Given the description of an element on the screen output the (x, y) to click on. 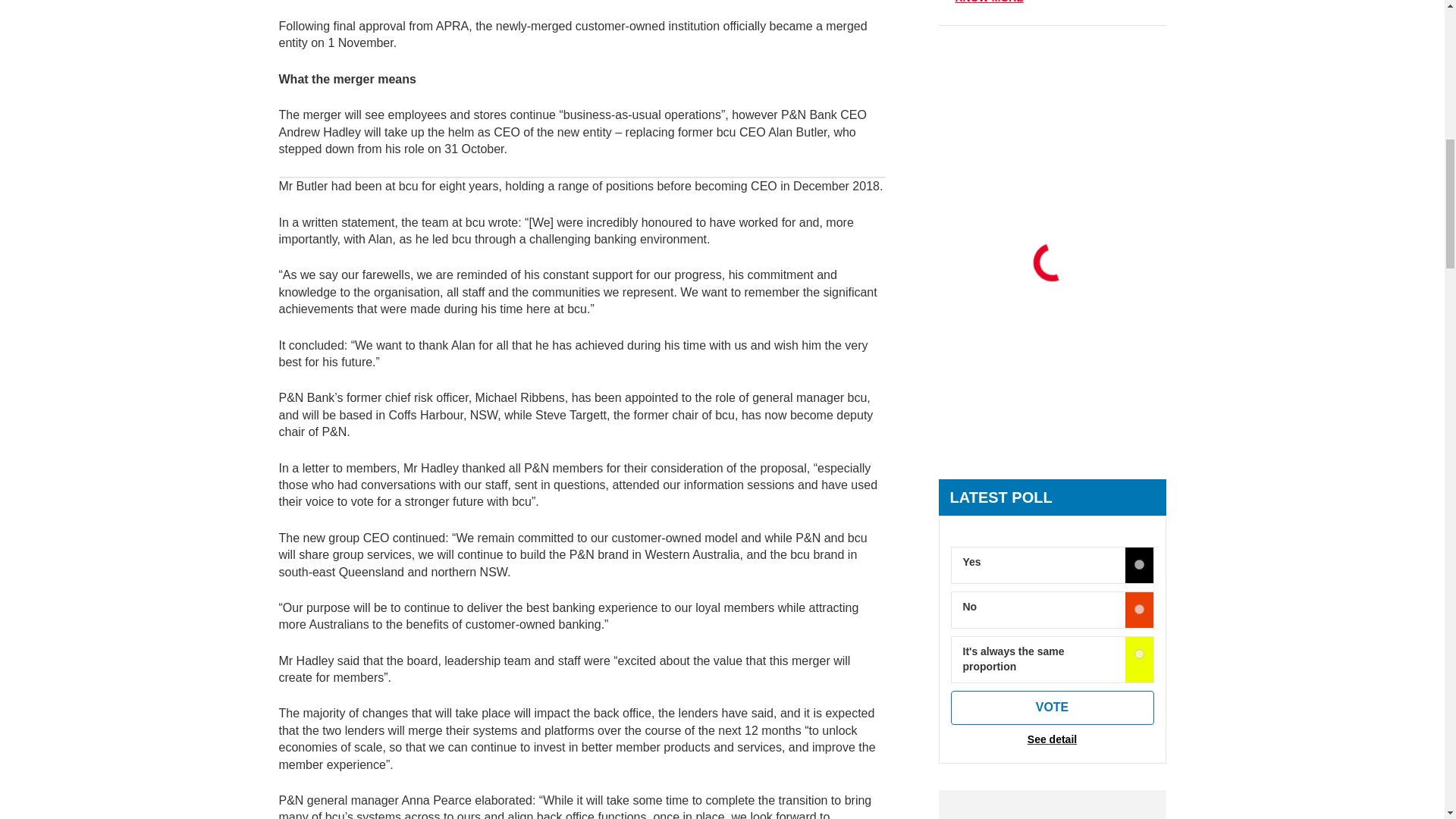
2 (1139, 654)
0 (1139, 564)
1 (1139, 609)
